Given the description of an element on the screen output the (x, y) to click on. 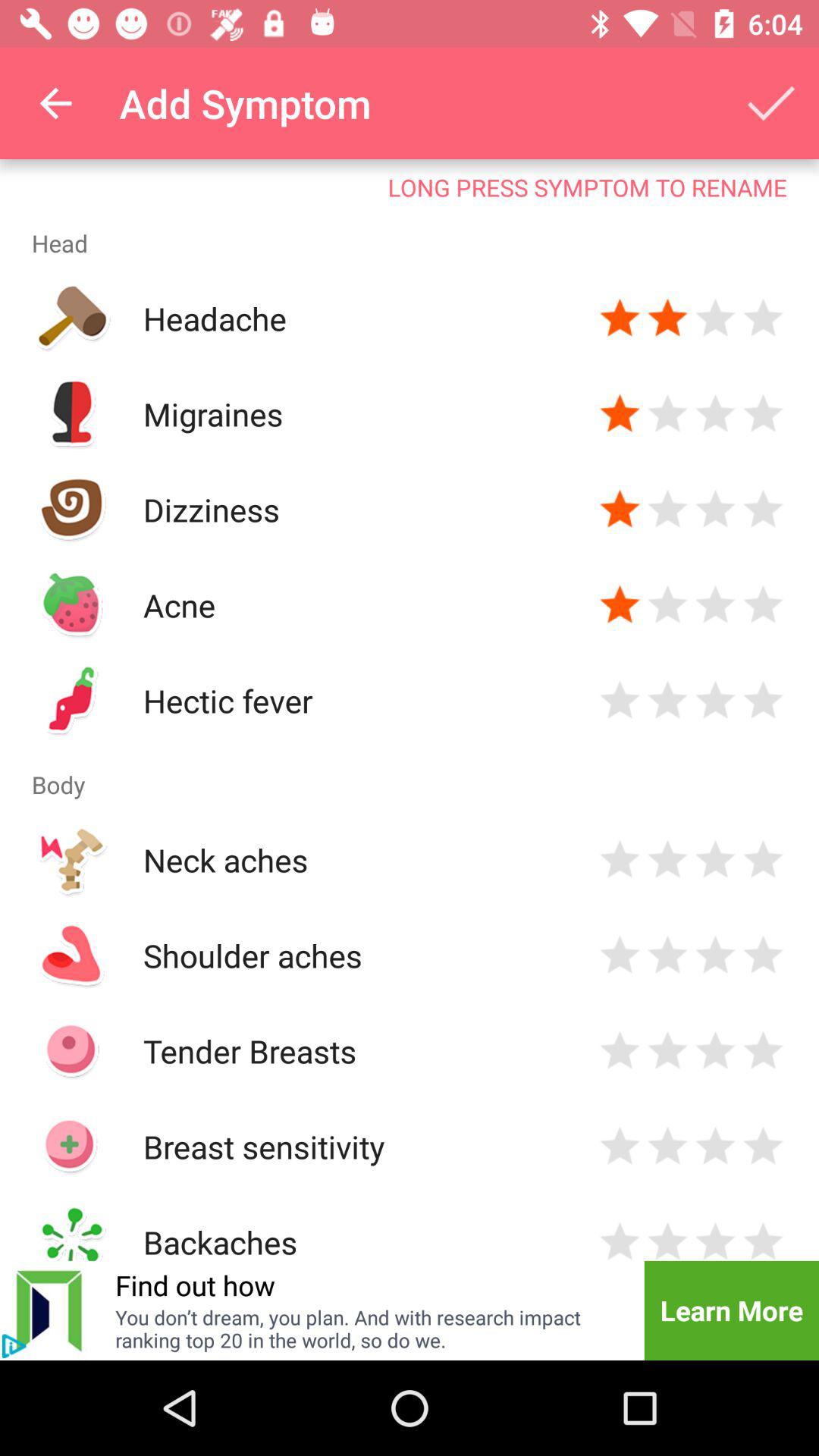
3 star (715, 318)
